Given the description of an element on the screen output the (x, y) to click on. 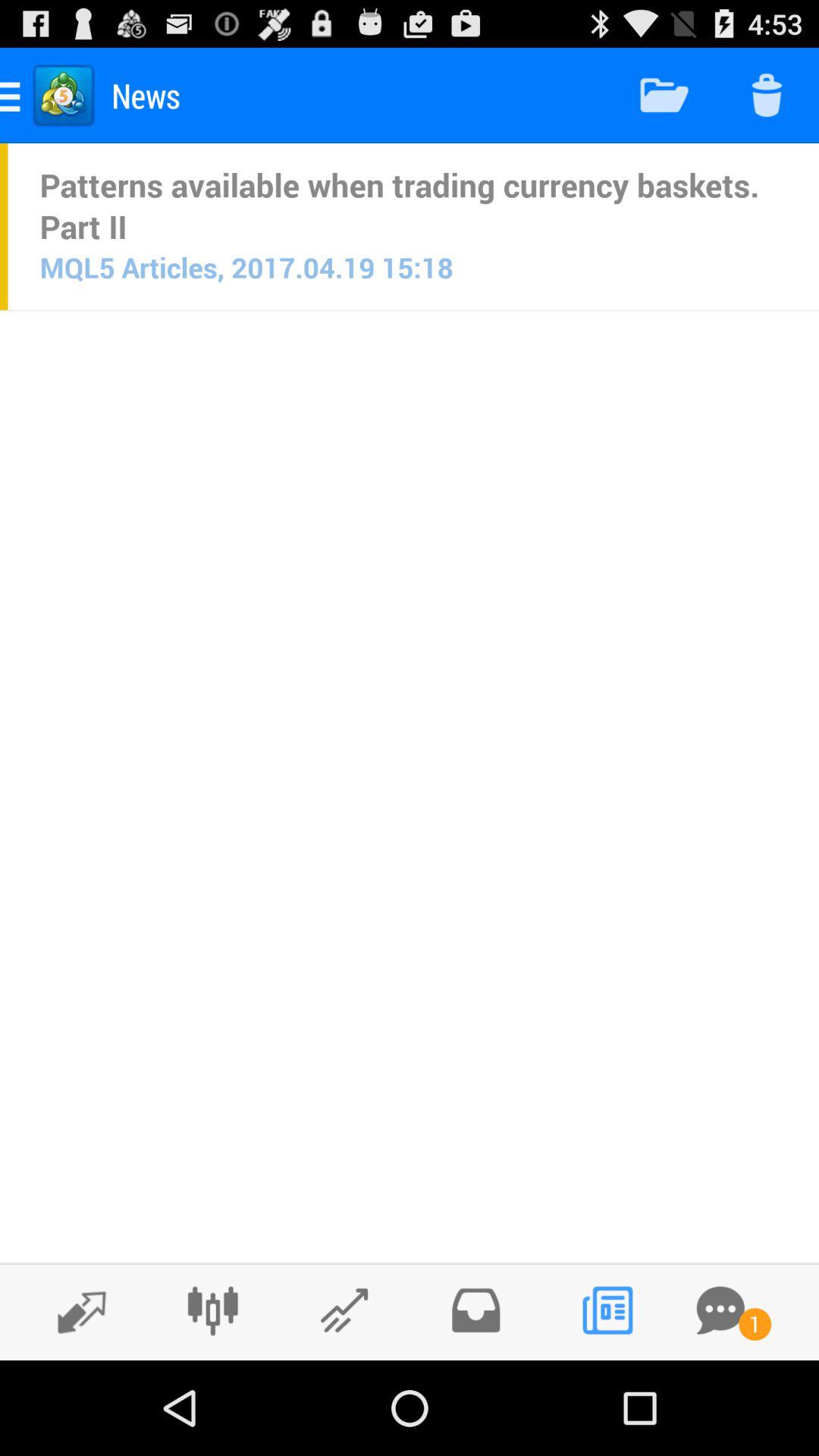
options (212, 1310)
